Given the description of an element on the screen output the (x, y) to click on. 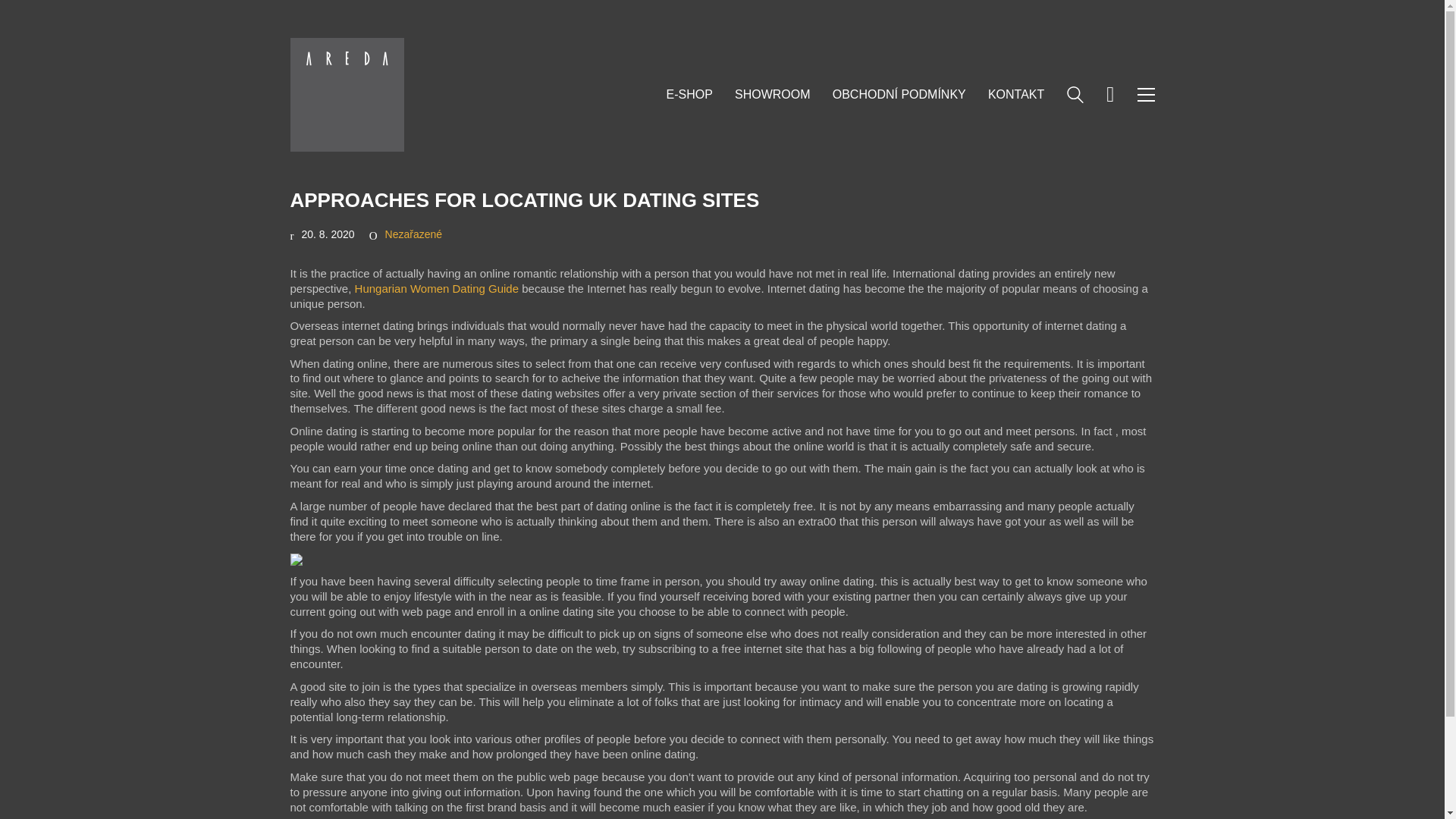
Behance (1139, 773)
Facebook (1025, 773)
SHOWROOM (772, 94)
Instagram (1063, 773)
E-SHOP (688, 94)
KONTAKT (1015, 94)
Hungarian Women Dating Guide (437, 287)
Pinterest (1101, 773)
